Given the description of an element on the screen output the (x, y) to click on. 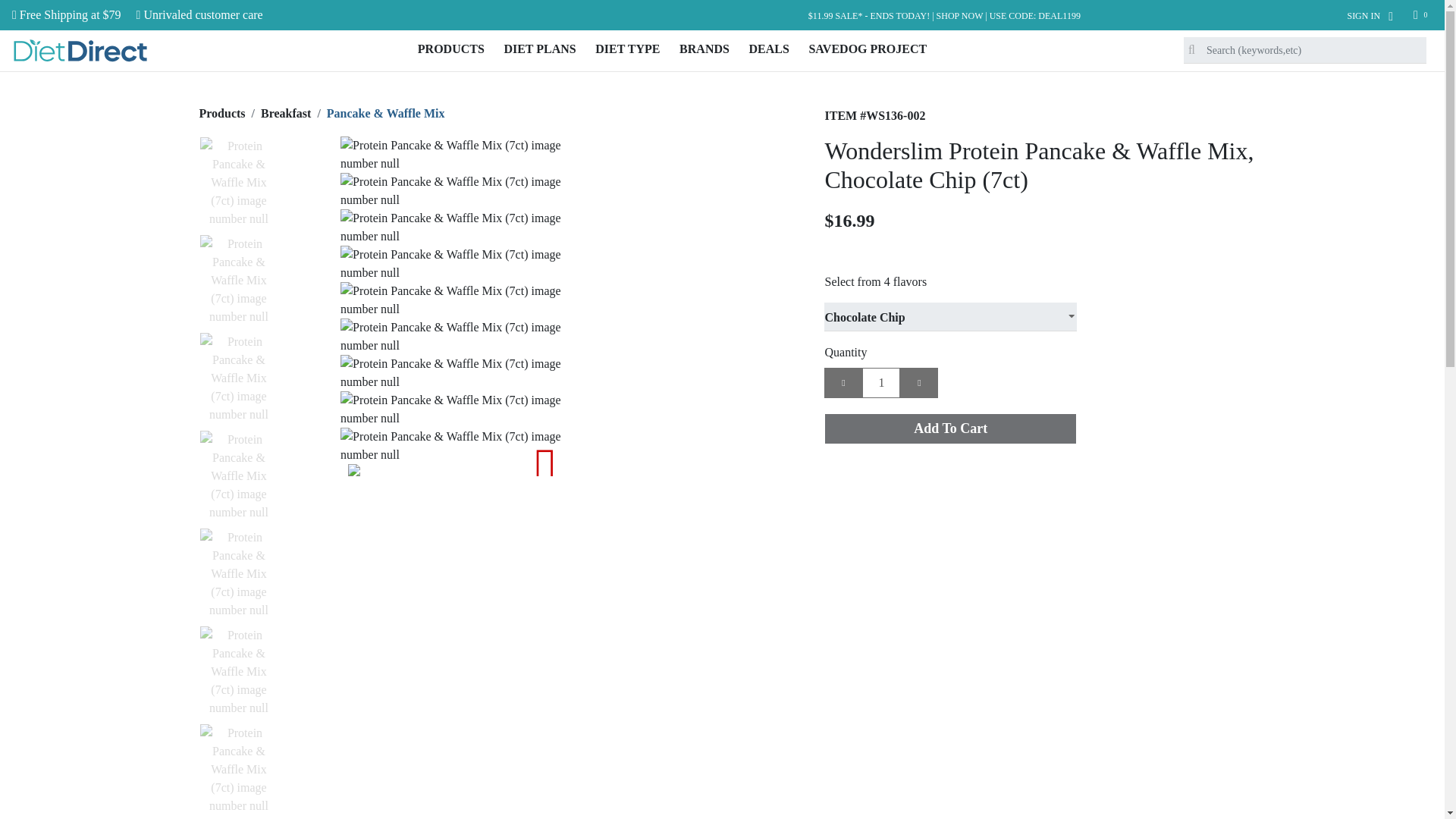
Commerce Cloud Storefront Reference Architecture Home (79, 50)
PRODUCTS (451, 48)
SIGN IN (1369, 15)
1 (880, 382)
